Given the description of an element on the screen output the (x, y) to click on. 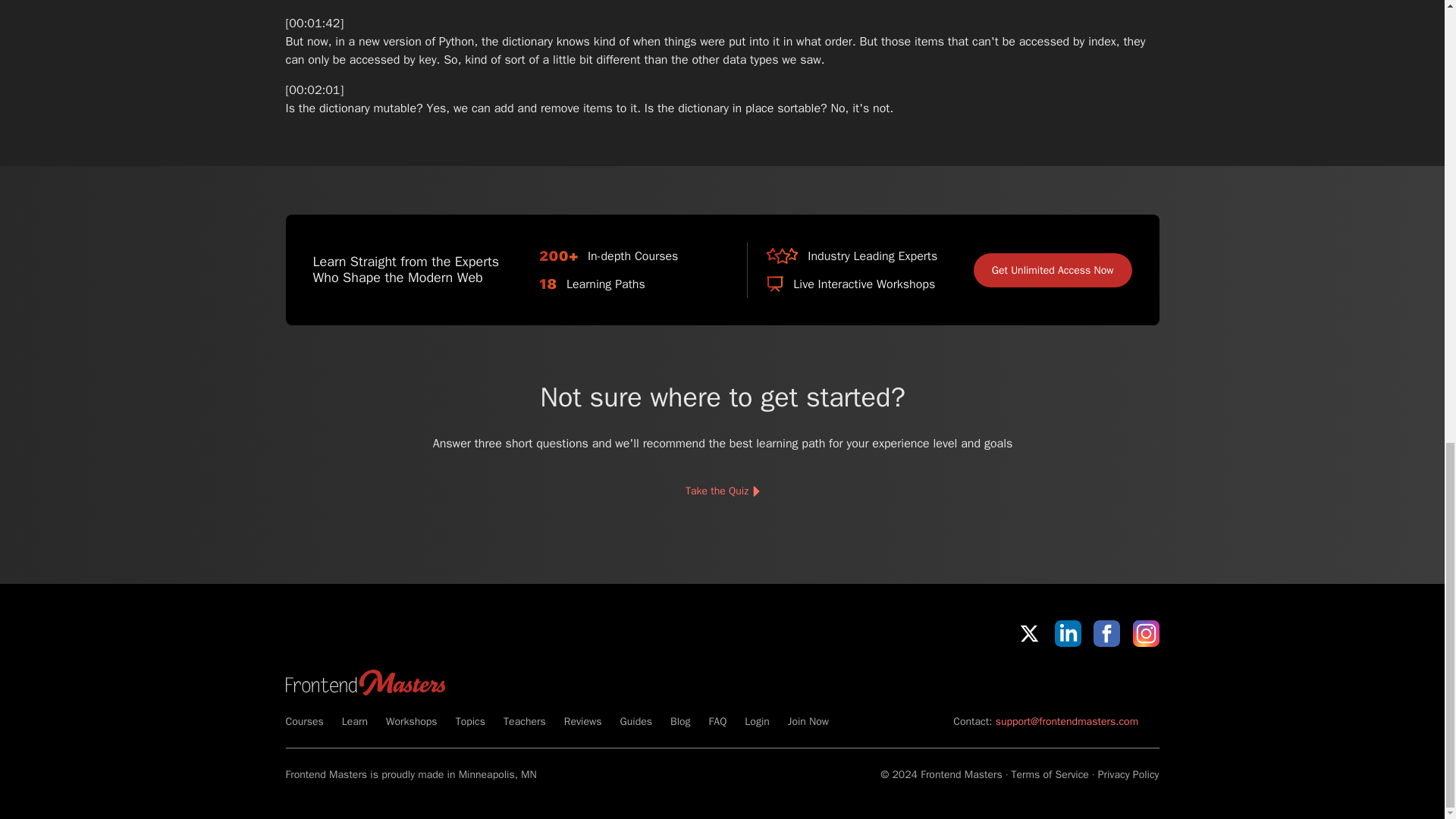
FAQ (717, 721)
Google App Store (1107, 680)
Learn (355, 721)
FrontendMasters (364, 682)
Guides (636, 721)
Instagram (1145, 633)
Get Unlimited Access Now (1053, 270)
Teachers (524, 721)
Topics (469, 721)
Apple App Store (998, 680)
Reviews (583, 721)
Join Now (807, 721)
Courses (304, 721)
Facebook (1106, 633)
LinkedIn (1067, 633)
